Given the description of an element on the screen output the (x, y) to click on. 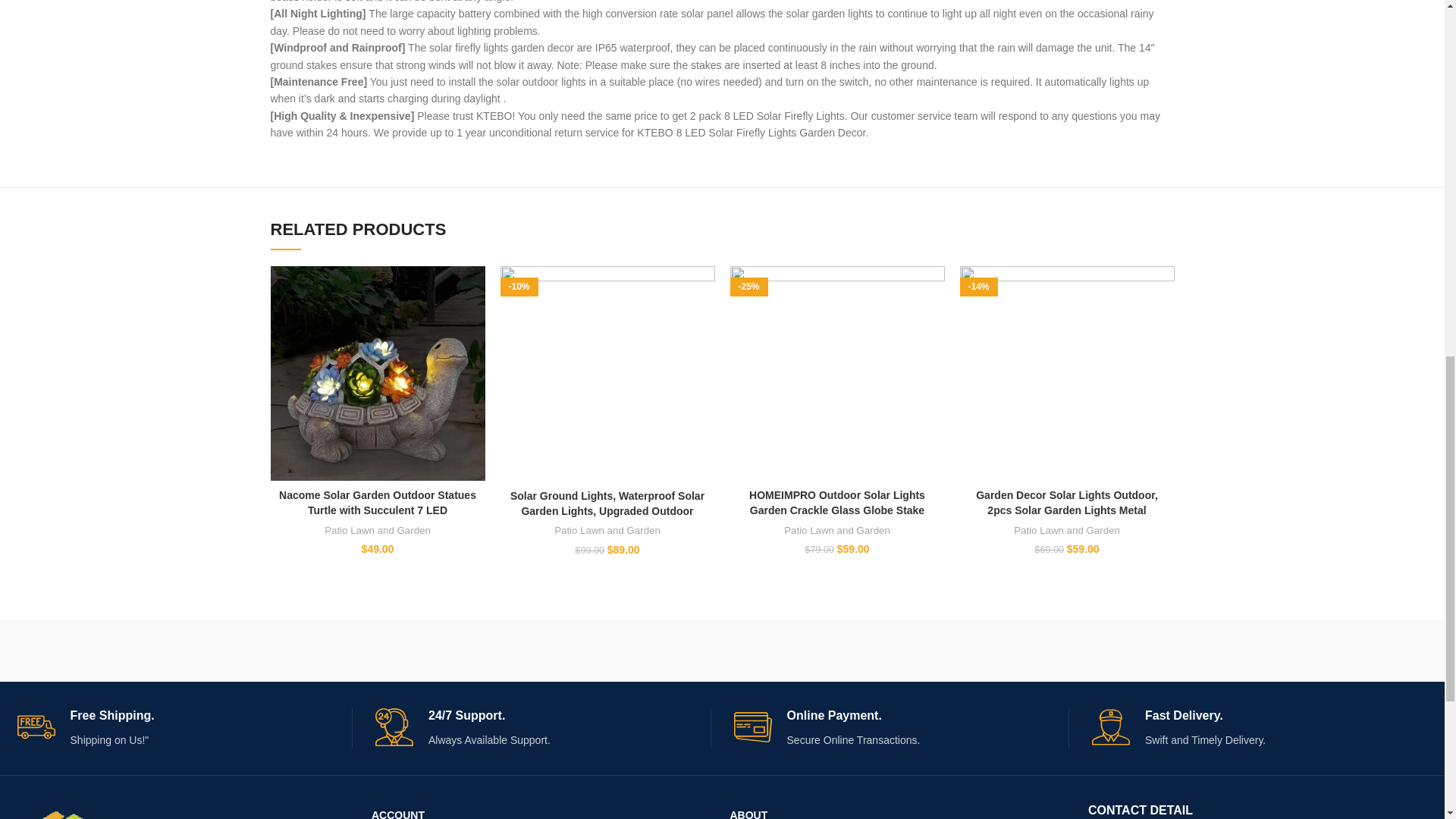
Louis Poulsen (520, 650)
Magisso (317, 650)
Vitra (114, 650)
